Given the description of an element on the screen output the (x, y) to click on. 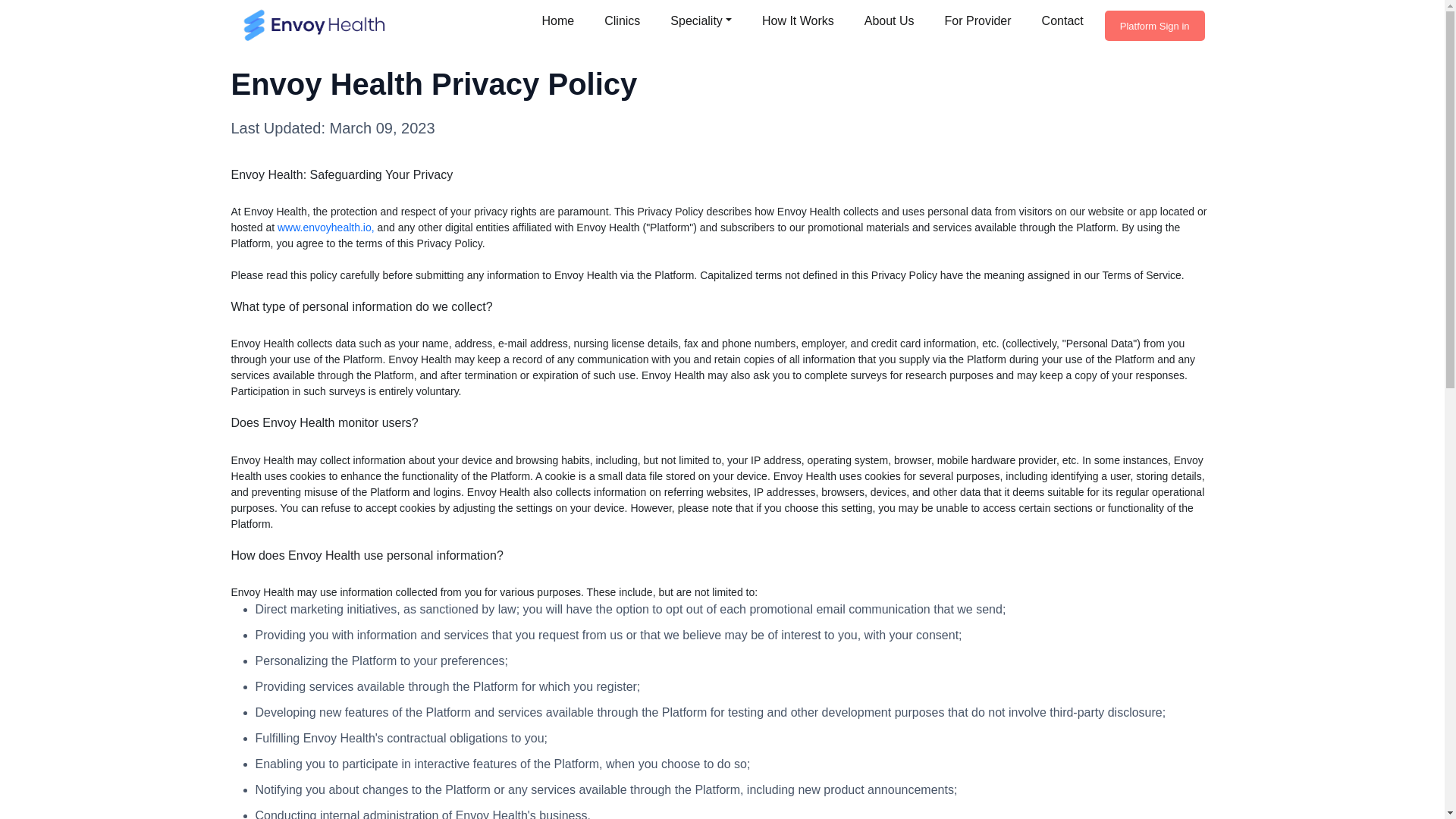
Home (558, 20)
How It Works (797, 20)
www.envoyhealth.io, (326, 227)
About Us (889, 20)
Clinics (622, 20)
For Provider (978, 20)
Speciality (700, 20)
Platform Sign in (1155, 25)
Contact (1062, 20)
